Given the description of an element on the screen output the (x, y) to click on. 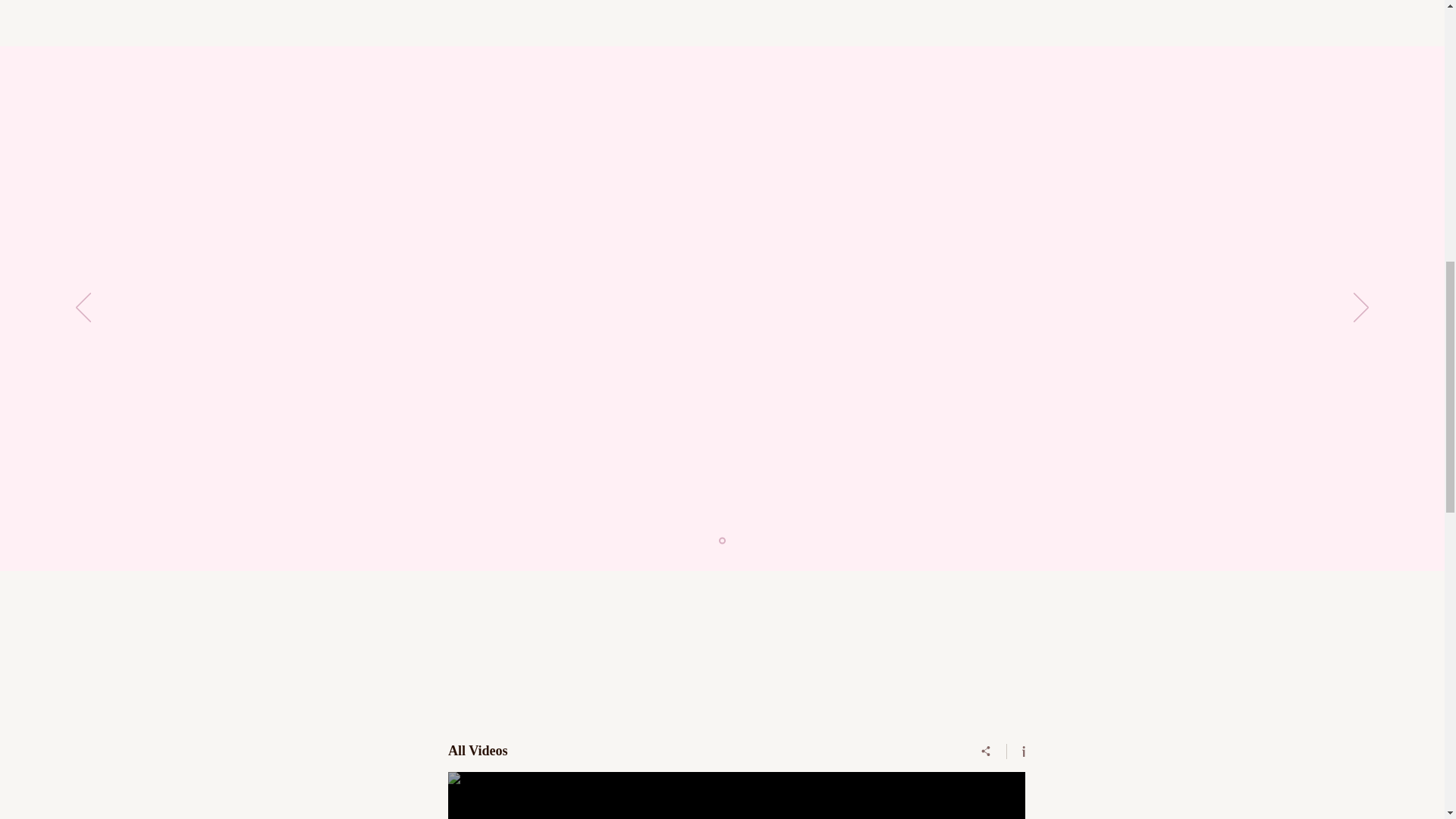
All Videos (697, 750)
